Given the description of an element on the screen output the (x, y) to click on. 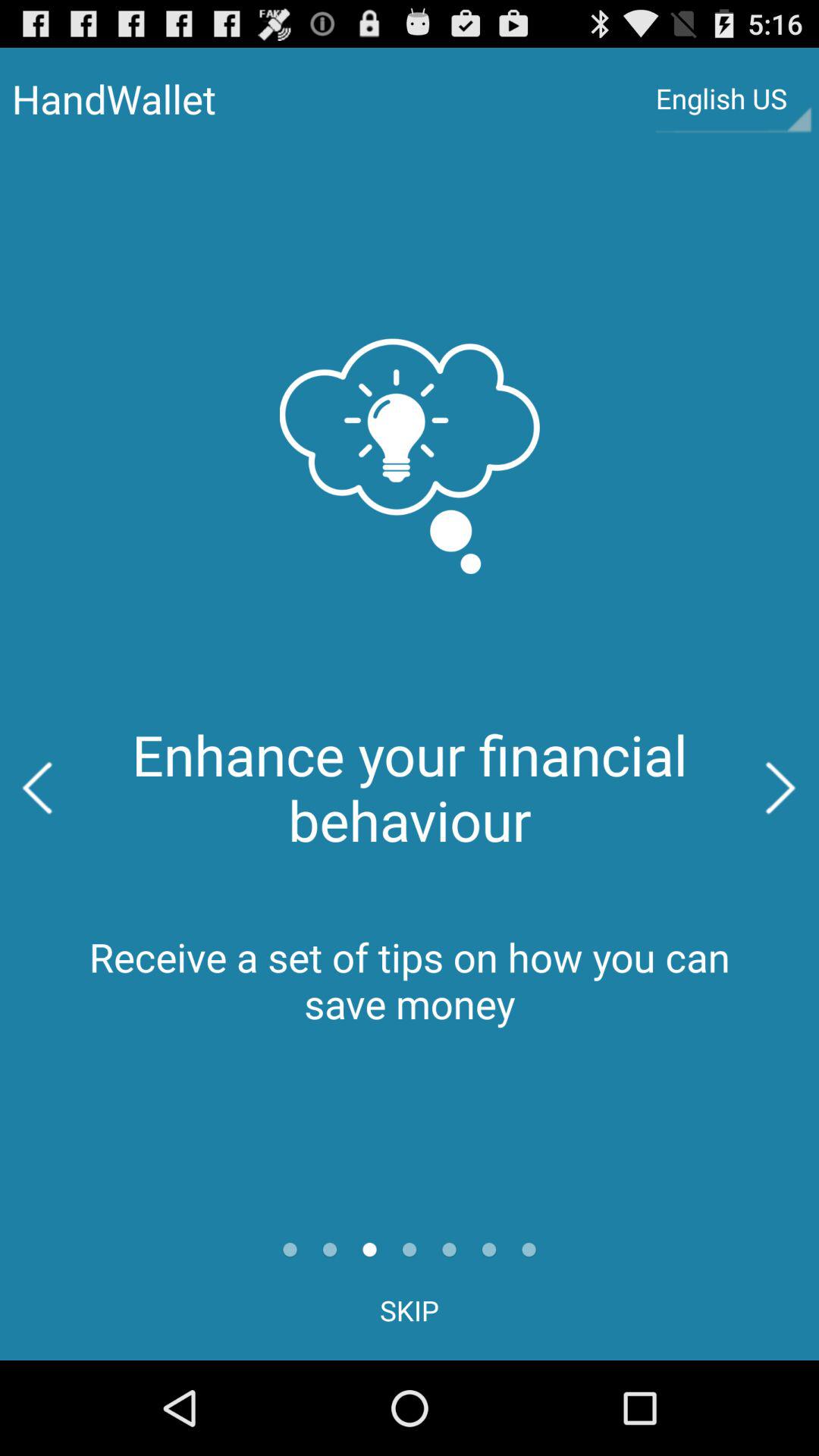
turn on icon on the left (37, 787)
